Given the description of an element on the screen output the (x, y) to click on. 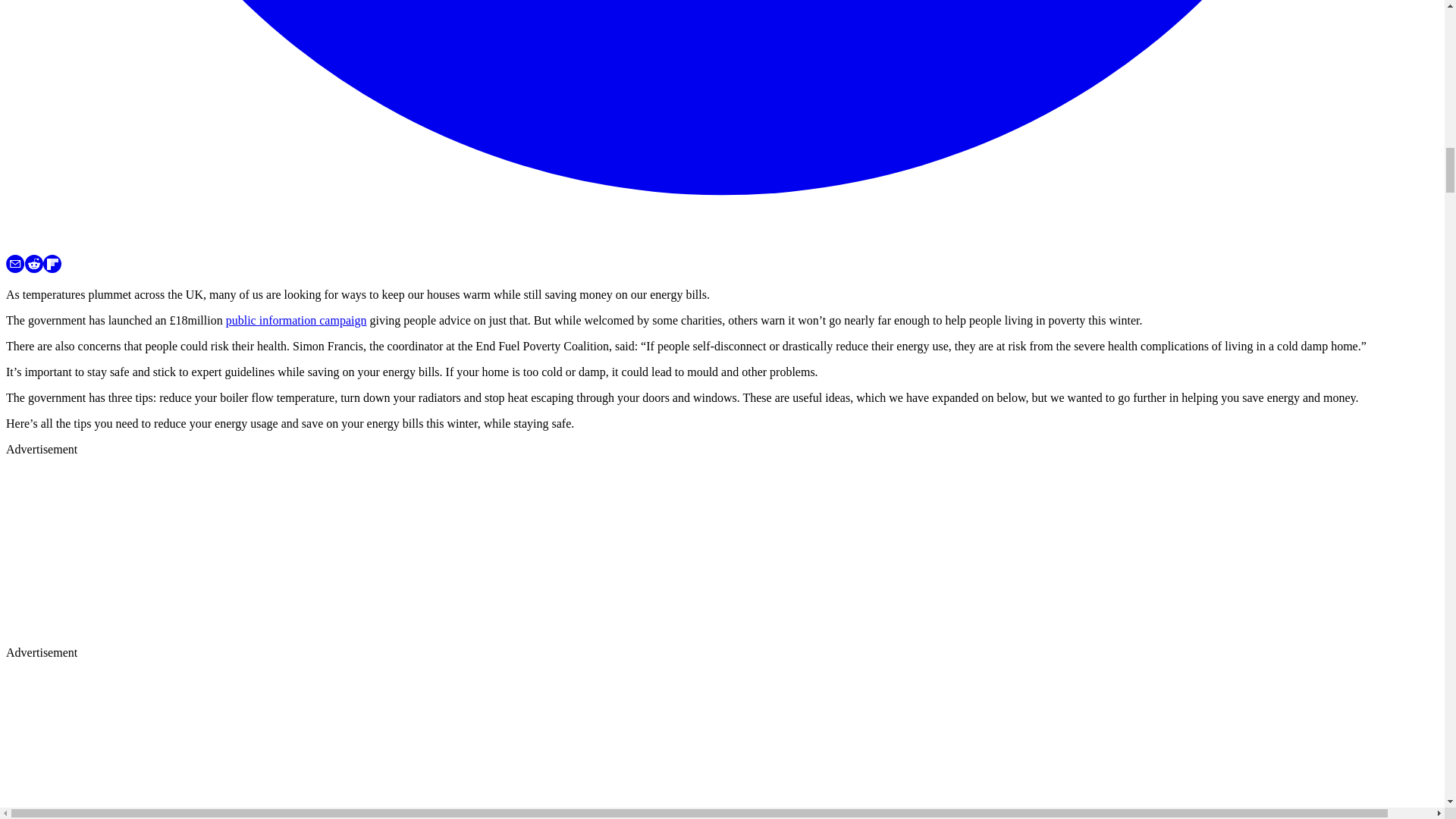
public information campaign (295, 319)
